Given the description of an element on the screen output the (x, y) to click on. 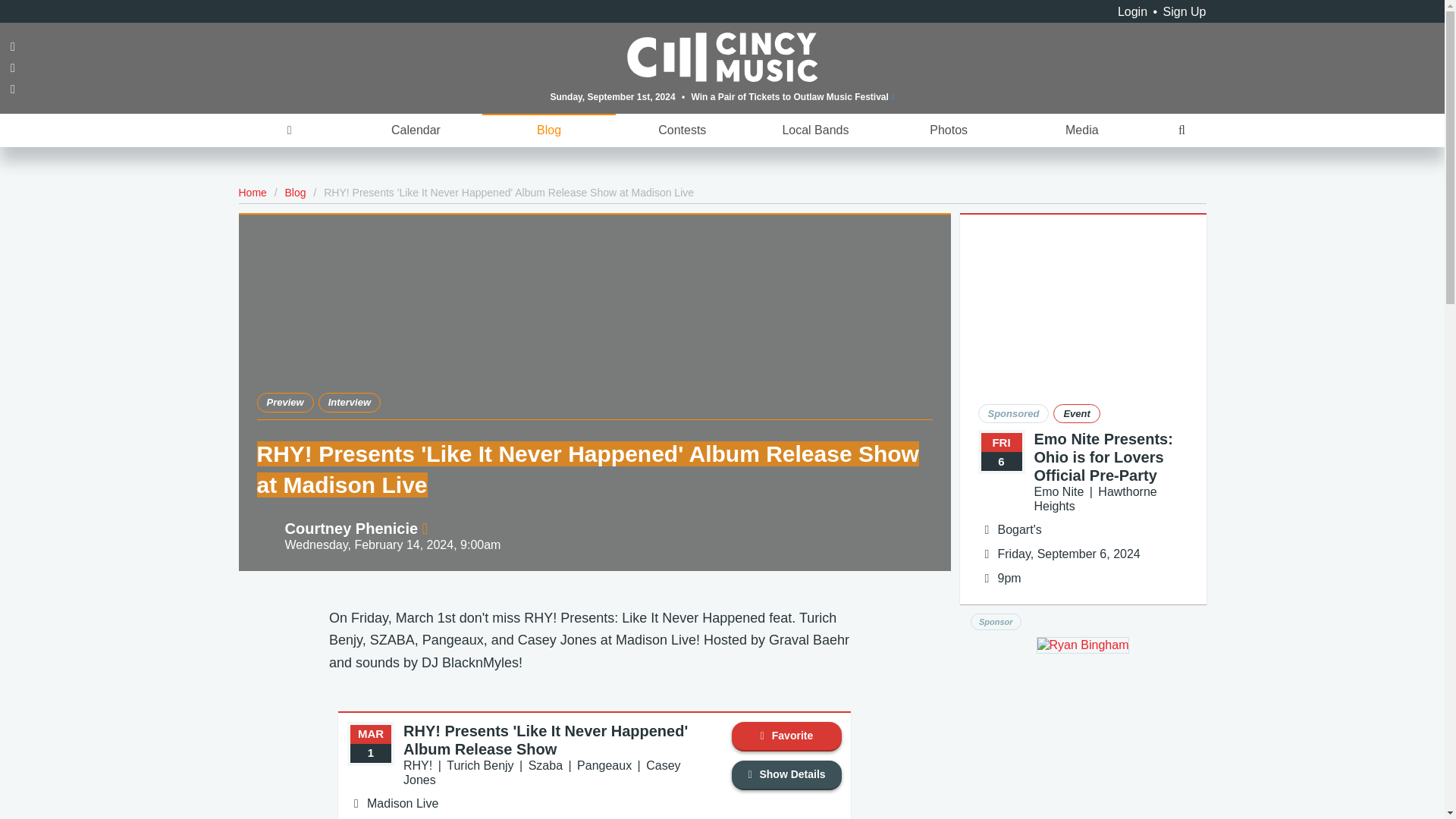
Home (252, 192)
Show Details (786, 775)
Media (1081, 130)
CincyMusic (722, 56)
Favorite (786, 736)
Sign Up (1185, 11)
Win a Pair of Tickets to Outlaw Music Festival  (791, 95)
Blog (295, 192)
Contests (682, 130)
Photos (948, 130)
